Given the description of an element on the screen output the (x, y) to click on. 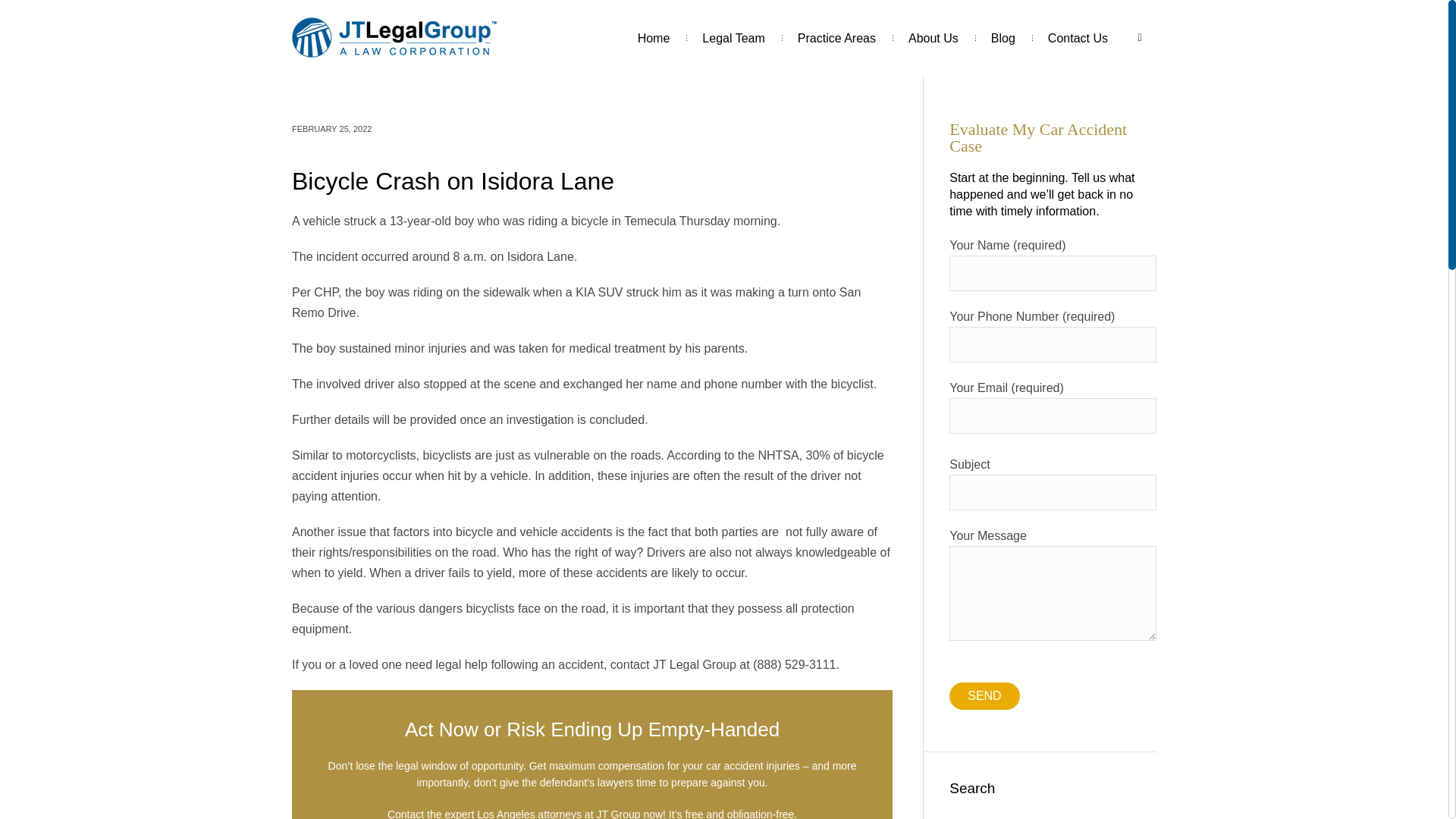
Practice Areas (836, 37)
Send (984, 696)
About Us (933, 37)
Legal Team (732, 37)
February 25, 2022 (331, 128)
Send (984, 696)
Home (653, 37)
Blog (1002, 37)
Contact Us (1078, 37)
